Given the description of an element on the screen output the (x, y) to click on. 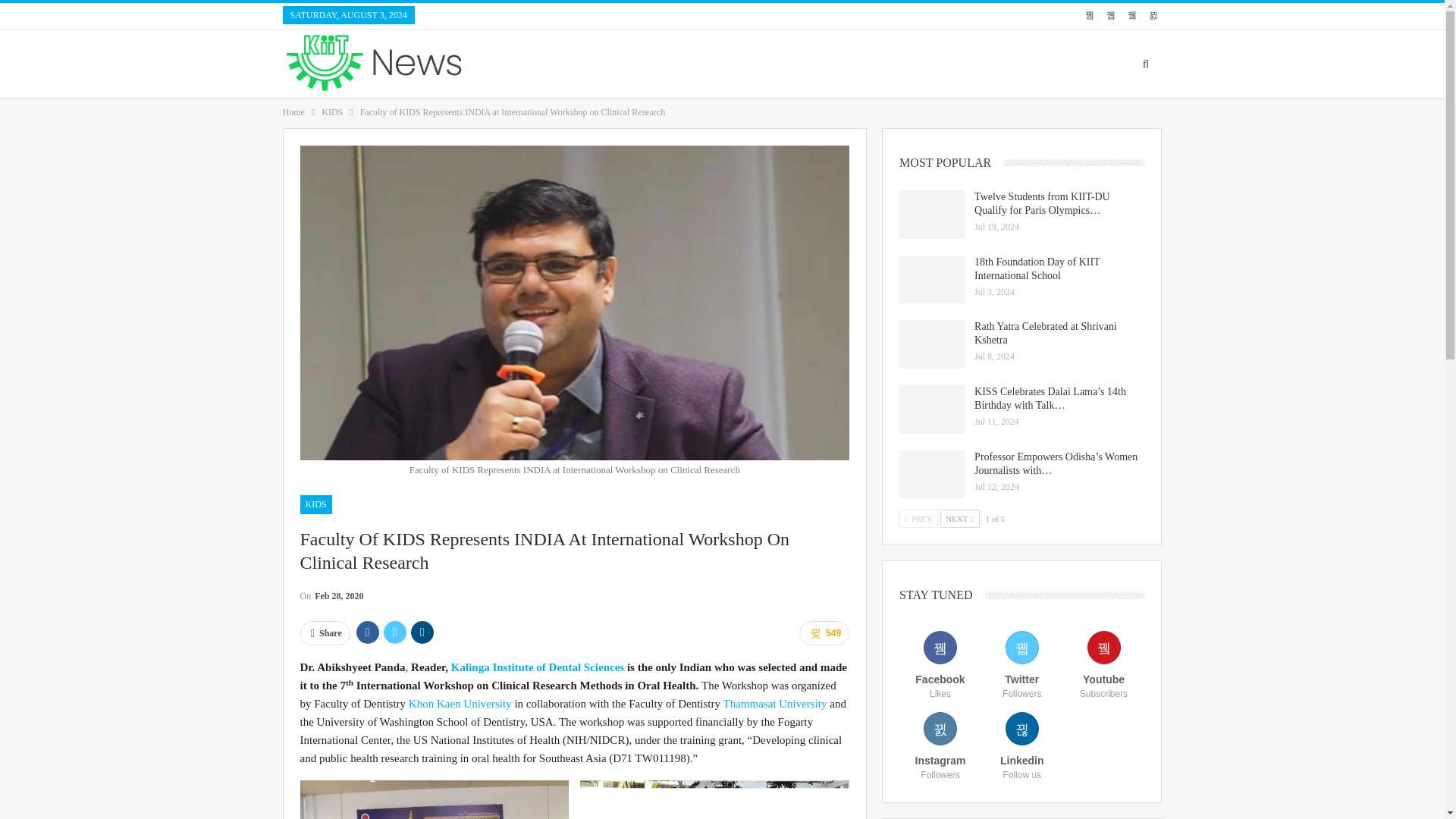
KIDS (331, 112)
KIDS (315, 504)
Kalinga Institute of Dental Sciences (537, 666)
Rath Yatra Celebrated at Shrivani Kshetra (931, 344)
Home (293, 112)
Khon Kaen University (460, 703)
Thammasat University (774, 703)
18th Foundation Day of KIIT International School (931, 279)
